Given the description of an element on the screen output the (x, y) to click on. 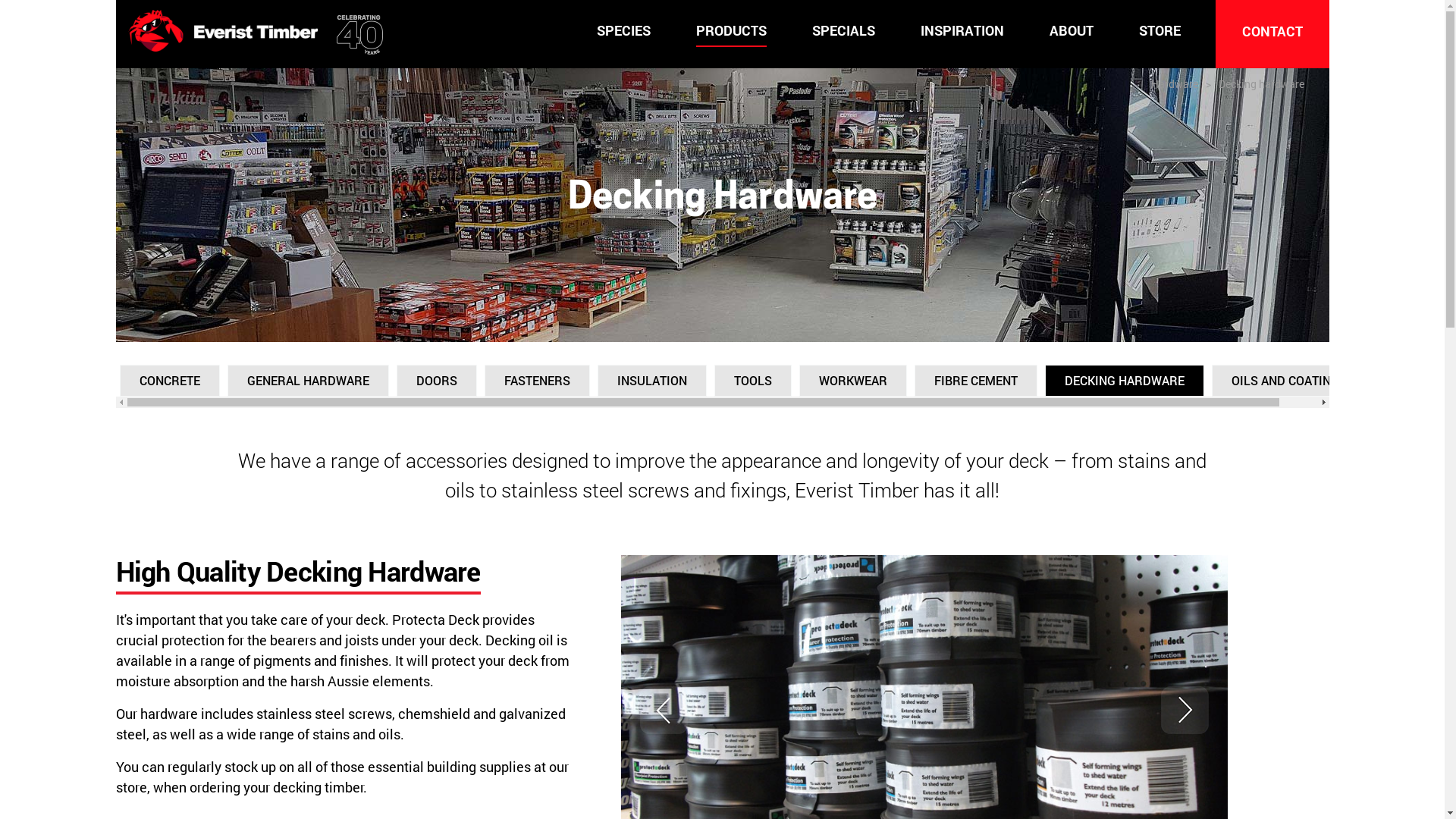
ABOUT Element type: text (1071, 30)
INSPIRATION Element type: text (962, 30)
INSULATION Element type: text (651, 380)
DOORS Element type: text (435, 380)
DECKING HARDWARE Element type: text (1124, 380)
SPECIALS Element type: text (842, 30)
CONCRETE Element type: text (169, 380)
FIBRE CEMENT Element type: text (975, 380)
TOOLS Element type: text (752, 380)
STORE Element type: text (1159, 30)
WORKWEAR Element type: text (852, 380)
GENERAL HARDWARE Element type: text (308, 380)
SPECIES Element type: text (622, 30)
OILS AND COATINGS Element type: text (1288, 380)
FASTENERS Element type: text (536, 380)
Hardware Element type: text (1174, 83)
PRODUCTS Element type: text (731, 31)
